Given the description of an element on the screen output the (x, y) to click on. 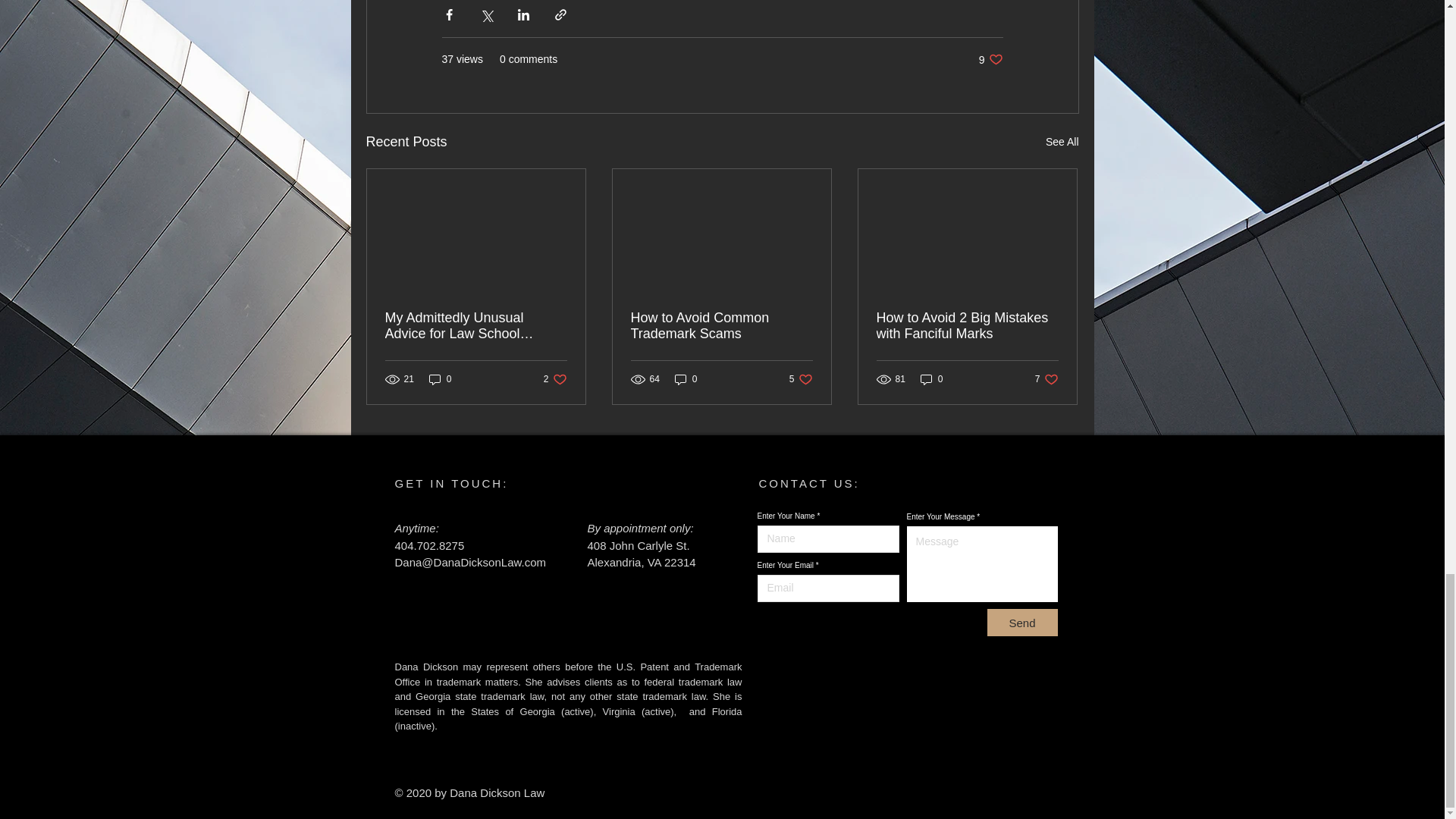
See All (1061, 142)
0 (1046, 379)
How to Avoid Common Trademark Scams (931, 379)
Send (990, 59)
My Admittedly Unusual Advice for Law School Students (555, 379)
How to Avoid 2 Big Mistakes with Fanciful Marks (721, 326)
